Given the description of an element on the screen output the (x, y) to click on. 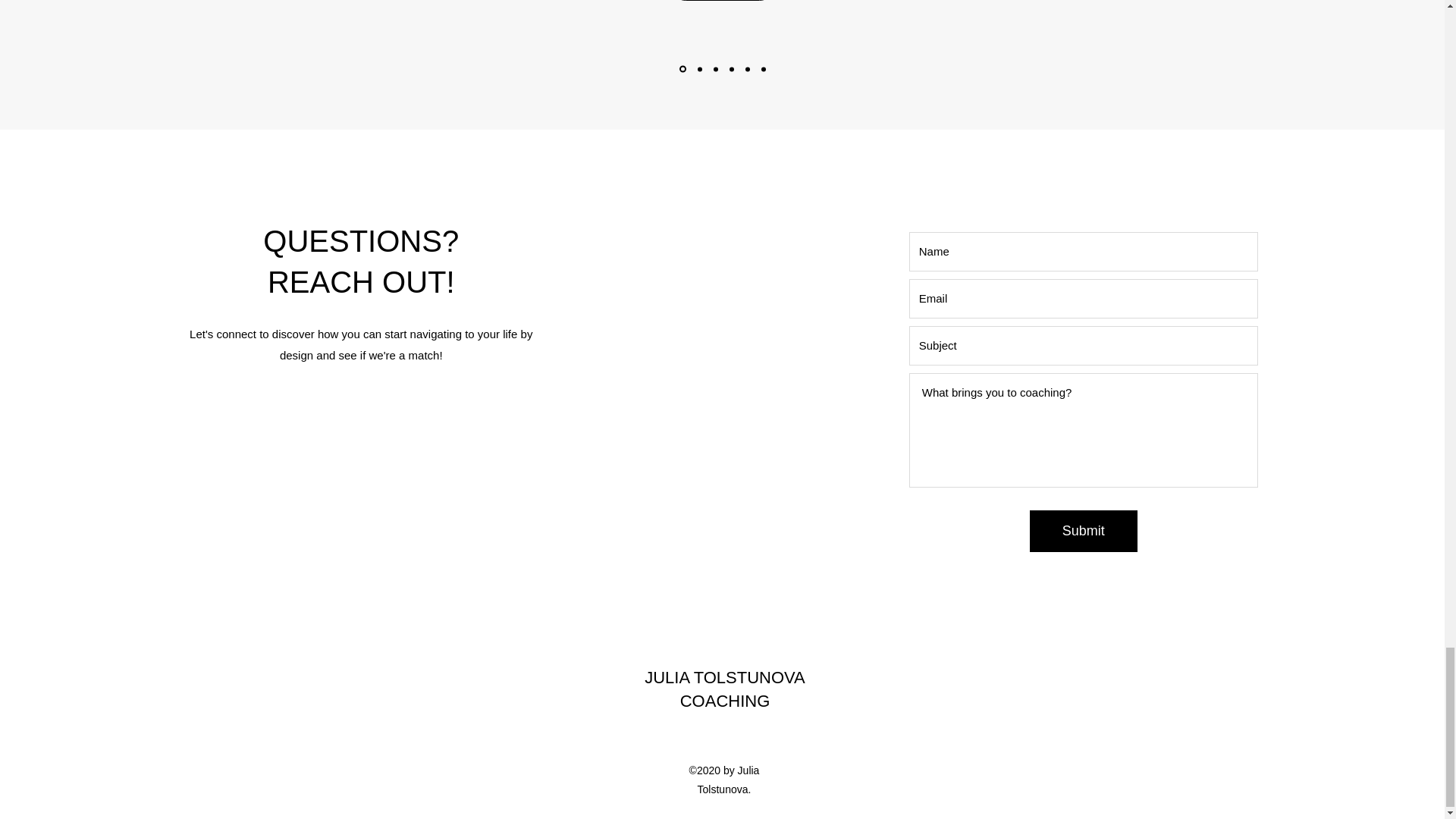
Submit (1083, 531)
